Given the description of an element on the screen output the (x, y) to click on. 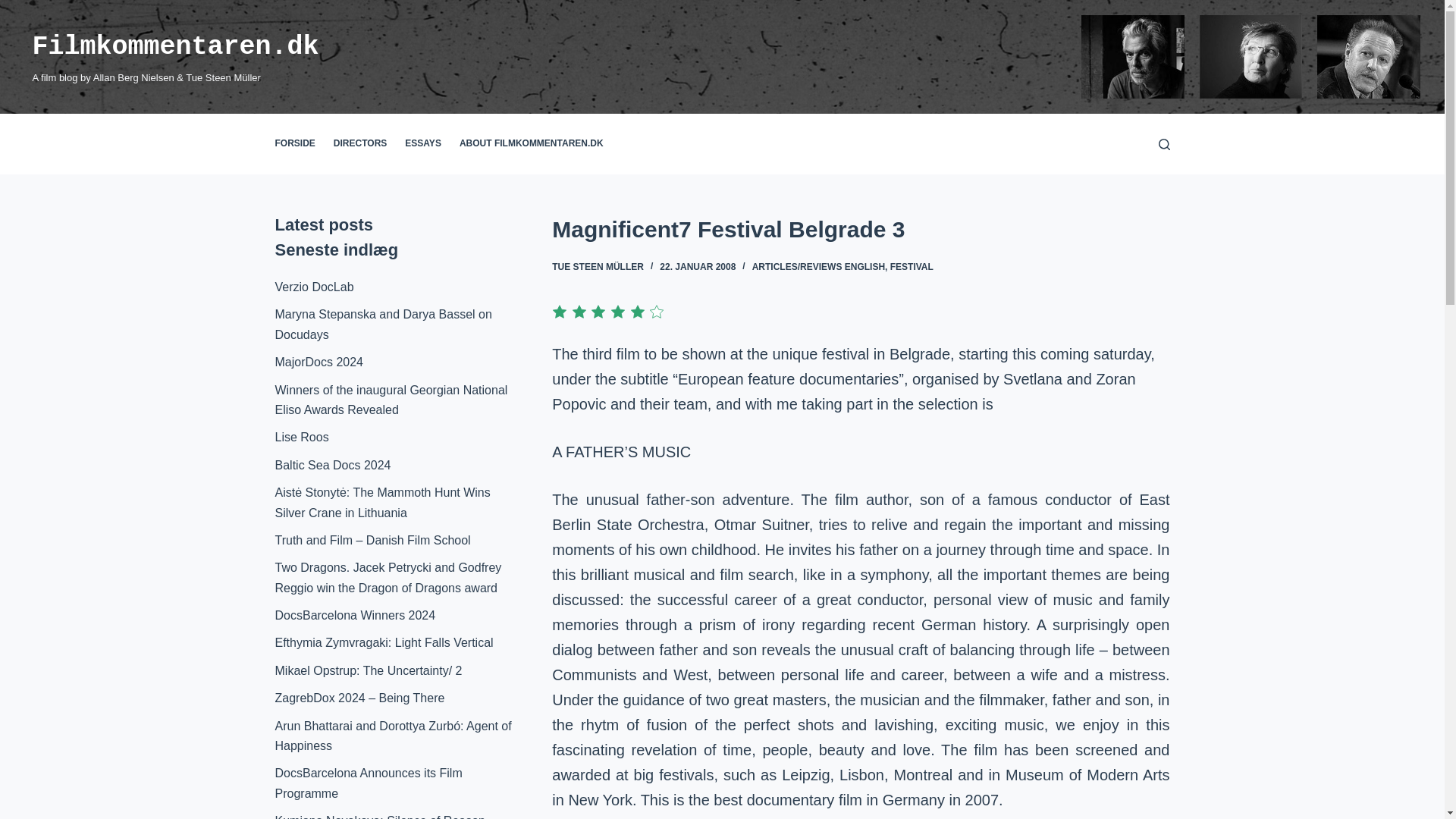
Magnificent7 Festival Belgrade 3 (860, 229)
ESSAYS (422, 143)
FORSIDE (299, 143)
MajorDocs 2024 (318, 361)
DIRECTORS (360, 143)
Maryna Stepanska and Darya Bassel on Docudays (383, 323)
DocsBarcelona Winners 2024 (355, 615)
ABOUT FILMKOMMENTAREN.DK (530, 143)
Lise Roos (302, 436)
Baltic Sea Docs 2024 (332, 464)
FESTIVAL (911, 266)
Verzio DocLab (314, 286)
Skip to content (15, 7)
